Given the description of an element on the screen output the (x, y) to click on. 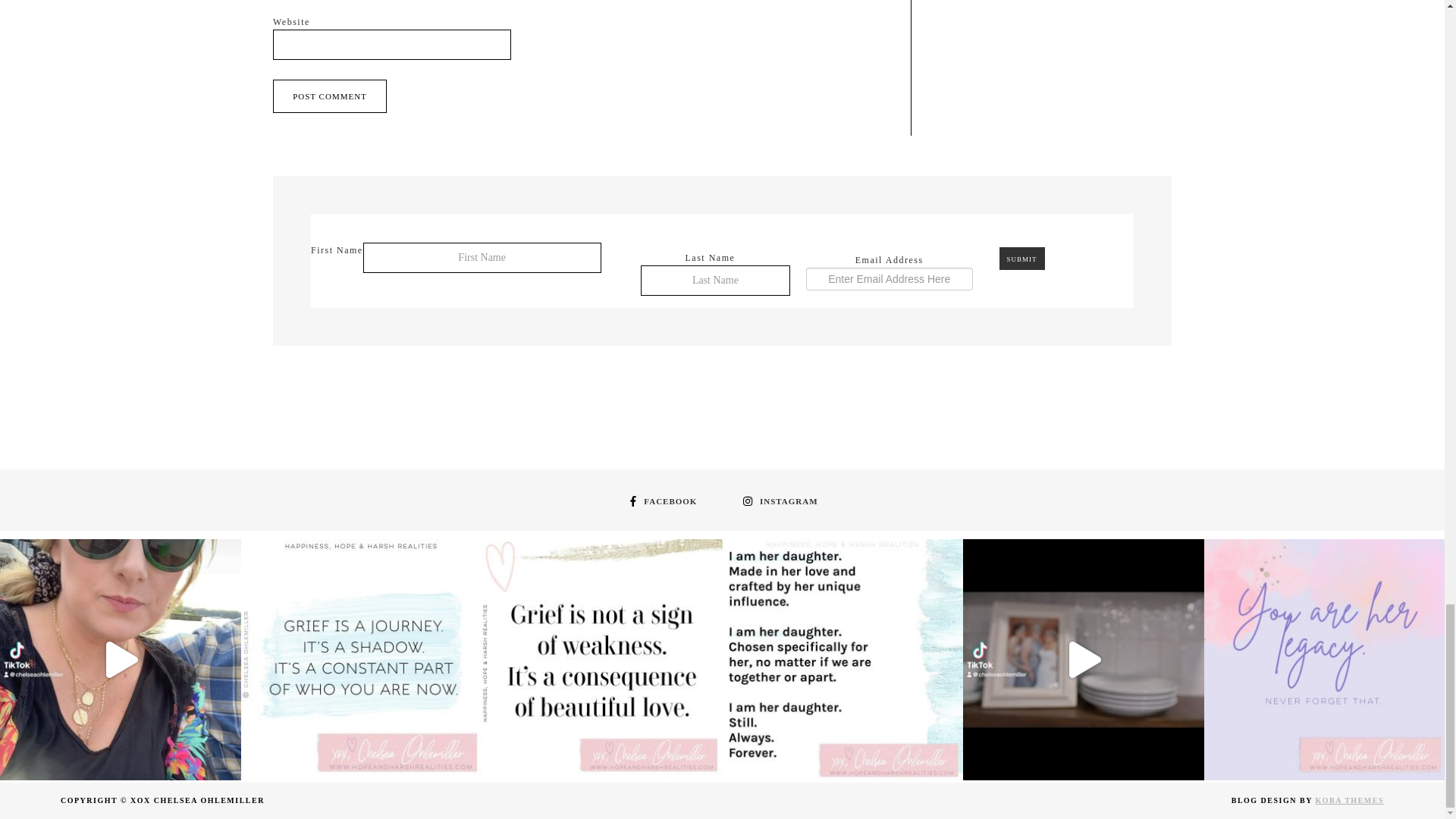
Submit (1021, 258)
Post Comment (330, 96)
INSTAGRAM (778, 500)
Post Comment (330, 96)
FACEBOOK (661, 500)
Submit (1021, 258)
